Given the description of an element on the screen output the (x, y) to click on. 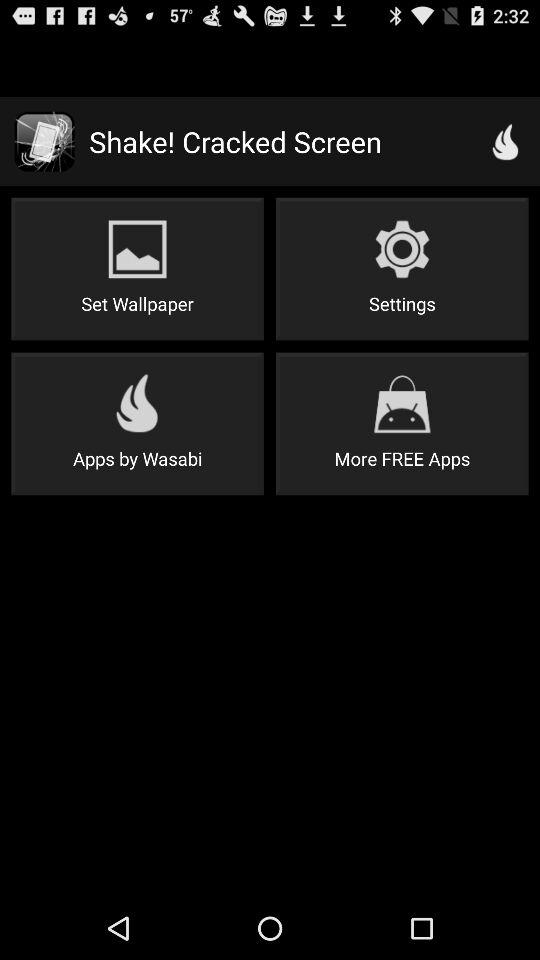
press item to the left of settings item (137, 268)
